Given the description of an element on the screen output the (x, y) to click on. 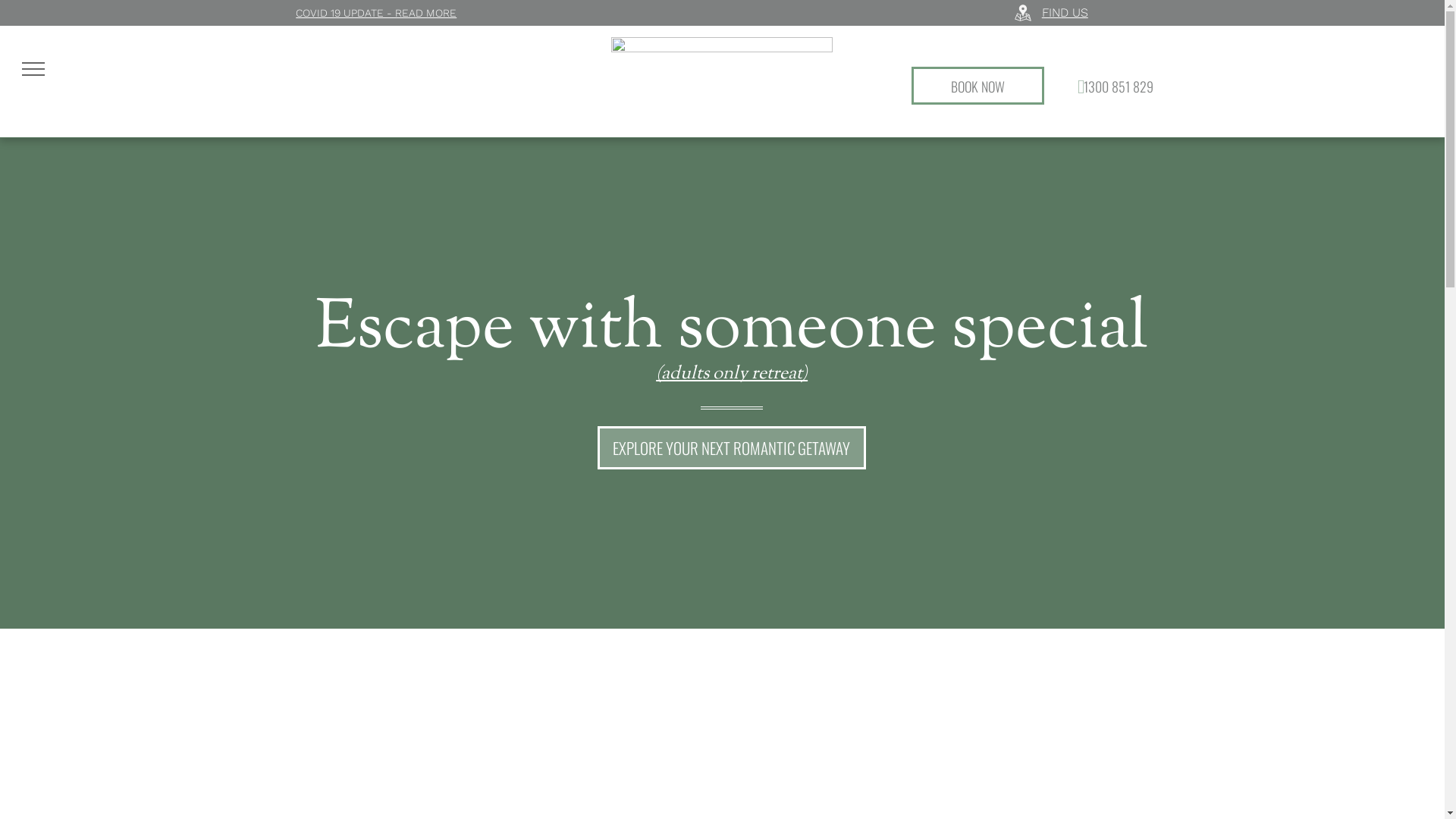
1300 851 829 Element type: text (1110, 84)
BOOK NOW Element type: text (977, 85)
EXPLORE YOUR NEXT ROMANTIC GETAWAY Element type: text (731, 447)
FIND US Element type: text (1064, 12)
COVID 19 UPDATE - READ MORE Element type: text (375, 12)
